Given the description of an element on the screen output the (x, y) to click on. 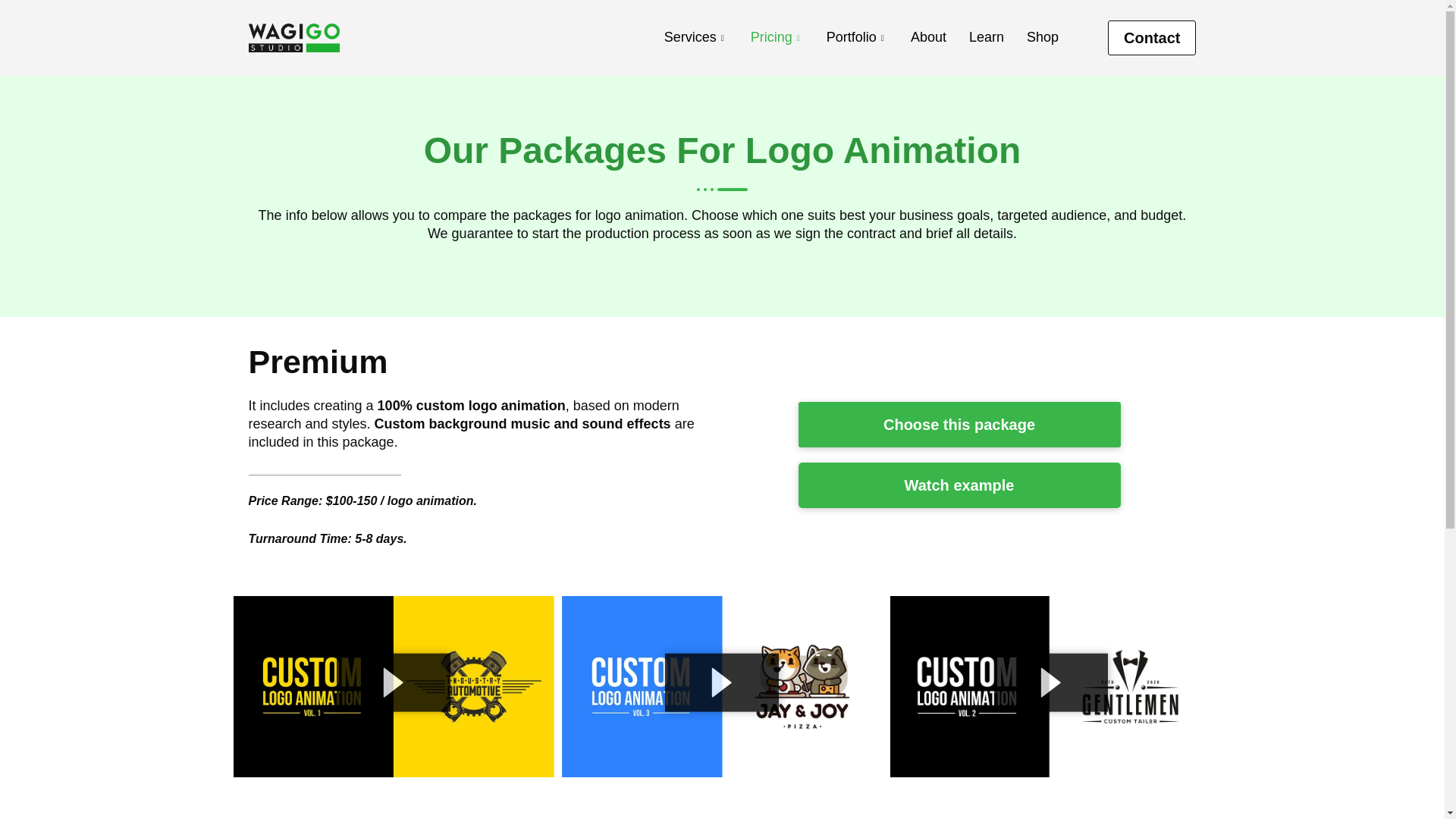
Portfolio (857, 37)
Services (695, 37)
Learn (986, 37)
About (928, 37)
Pricing (777, 37)
Contact (1151, 37)
Shop (1042, 37)
